Given the description of an element on the screen output the (x, y) to click on. 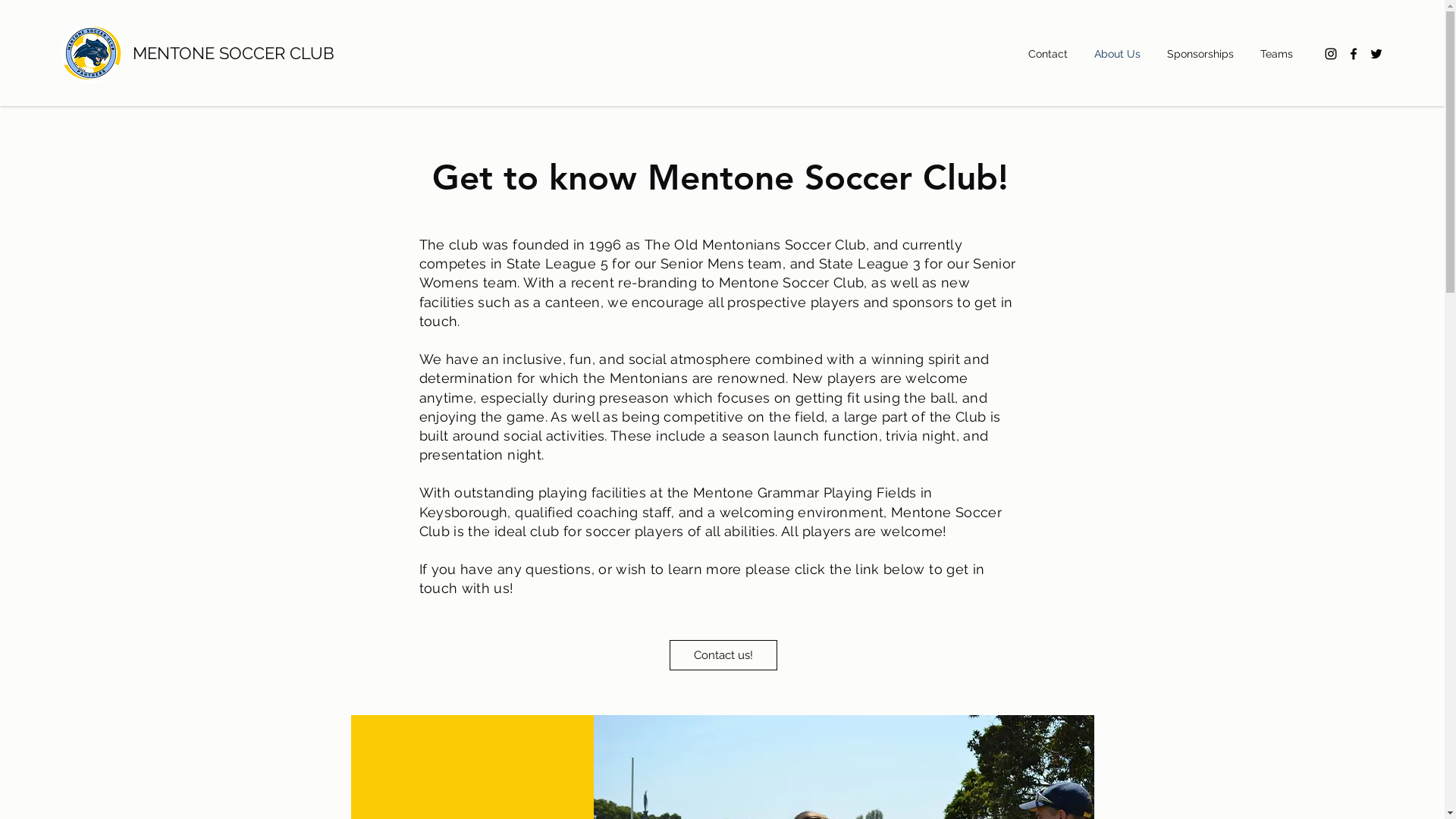
Sponsorships Element type: text (1205, 53)
Teams Element type: text (1281, 53)
MENTONE SOCCER CLUB Element type: text (233, 52)
About Us Element type: text (1122, 53)
Contact us! Element type: text (722, 655)
Contact Element type: text (1053, 53)
Squads Element type: text (467, 781)
